Given the description of an element on the screen output the (x, y) to click on. 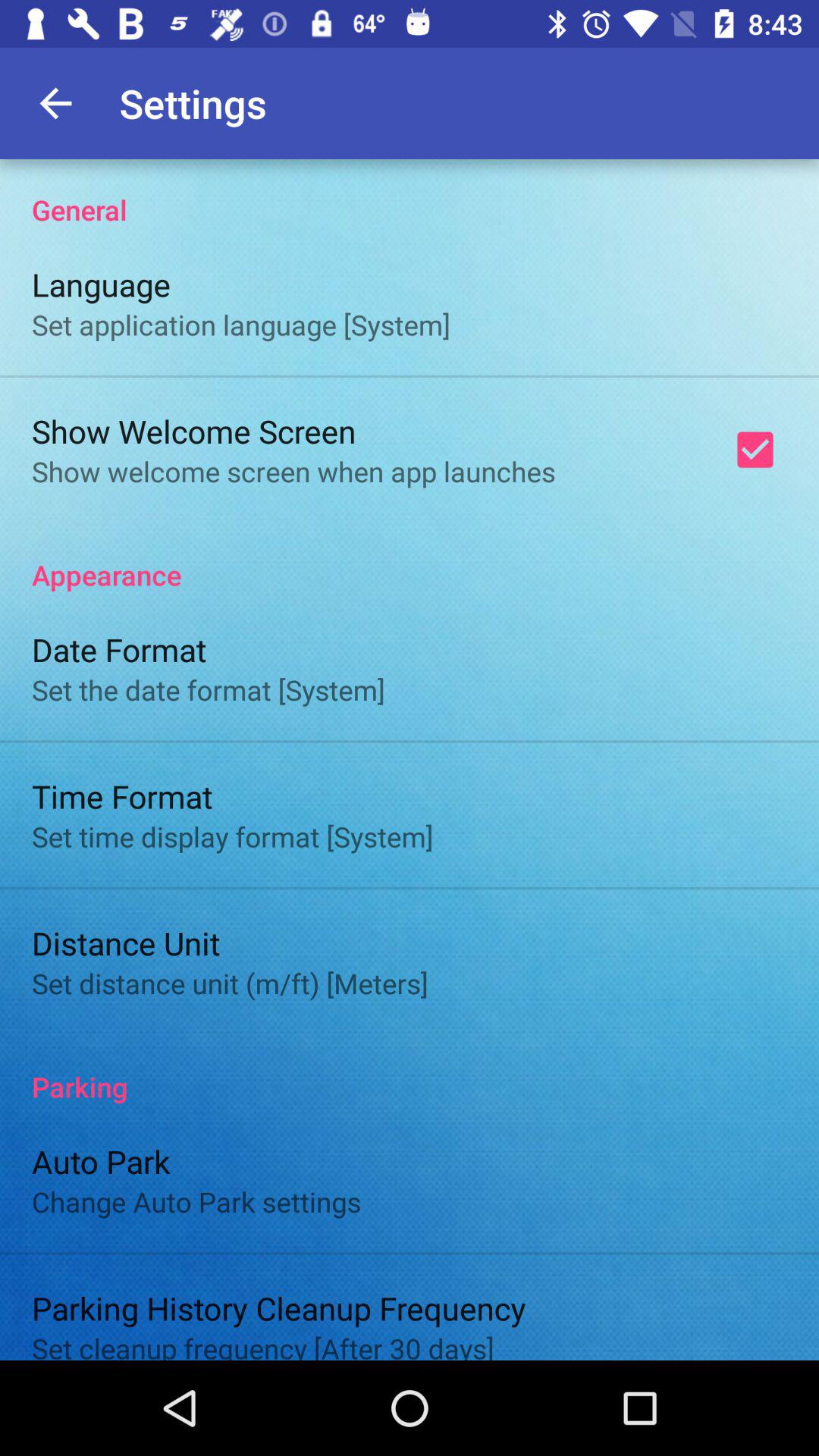
turn off app next to settings (55, 103)
